Given the description of an element on the screen output the (x, y) to click on. 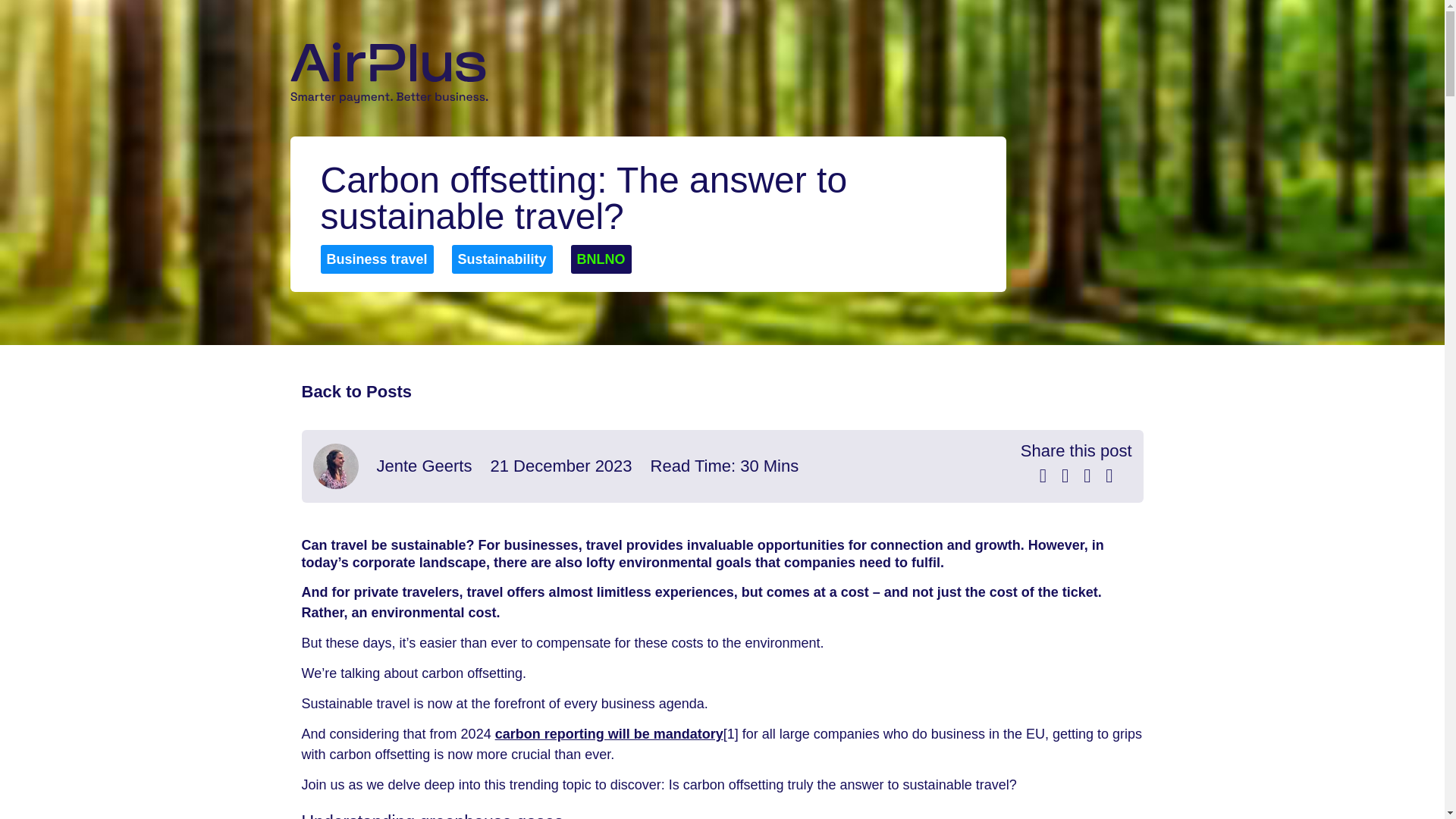
Jente Geerts (423, 465)
carbon reporting will be mandatory (609, 734)
BNLNO (600, 258)
Business travel (376, 258)
Sustainability (502, 258)
Back to Posts (356, 391)
